Given the description of an element on the screen output the (x, y) to click on. 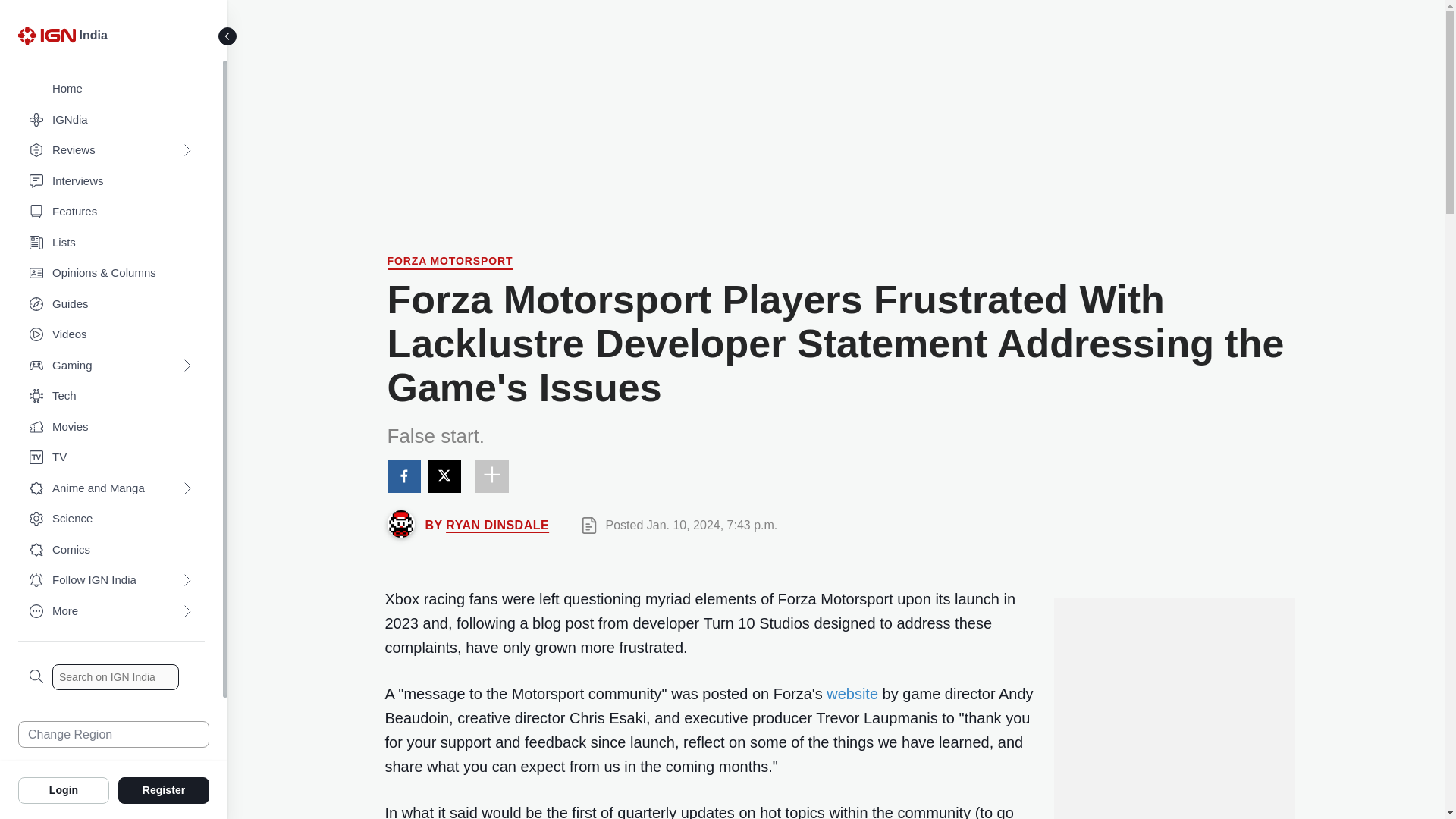
IGN Logo (48, 39)
IGN Logo (46, 34)
More (111, 610)
Videos (111, 334)
Reviews (111, 150)
Forza Motorsport (449, 262)
Gaming (111, 365)
Science (111, 518)
TV (111, 457)
IGNdia (111, 119)
Follow IGN India (111, 580)
Interviews (111, 181)
Movies (111, 427)
Guides (111, 304)
Toggle Sidebar (226, 36)
